Given the description of an element on the screen output the (x, y) to click on. 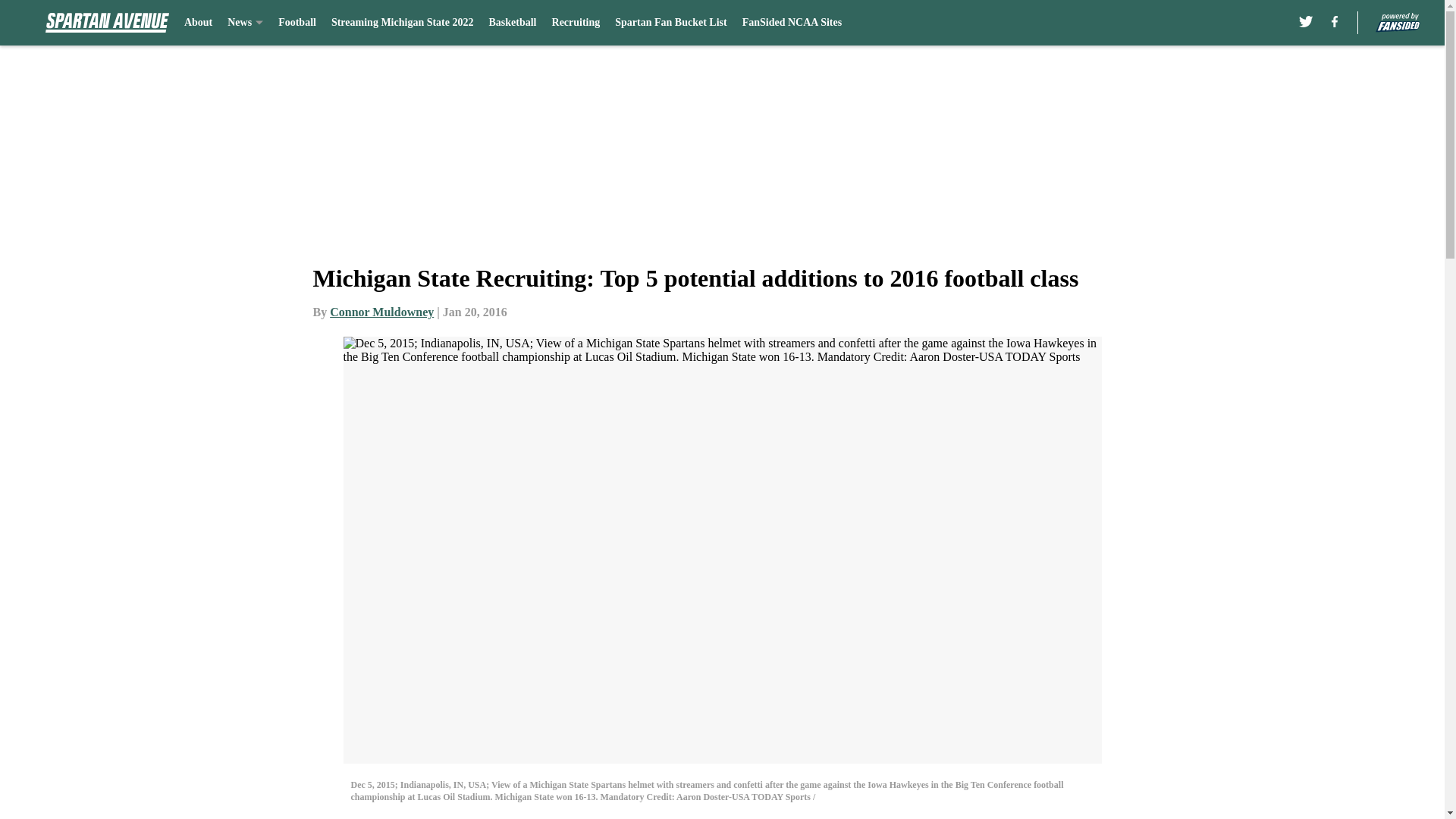
Connor Muldowney (381, 311)
Basketball (511, 22)
Recruiting (575, 22)
Spartan Fan Bucket List (670, 22)
Streaming Michigan State 2022 (402, 22)
About (198, 22)
FanSided NCAA Sites (791, 22)
Football (296, 22)
